Given the description of an element on the screen output the (x, y) to click on. 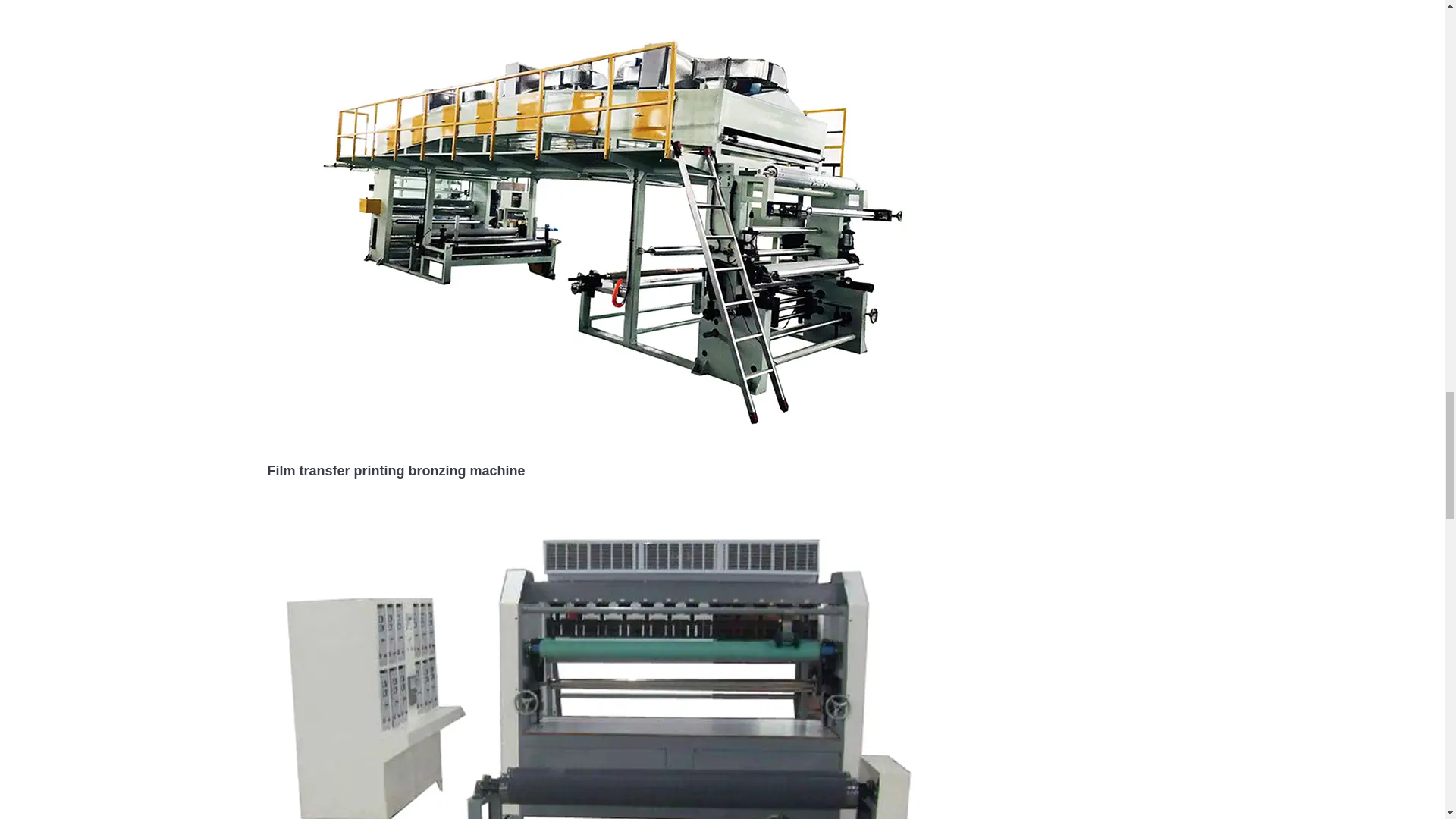
Film transfer printing bronzing machine (607, 229)
Film transfer printing bronzing machine (395, 470)
Ultrasonic Embossing Machine for non woven fabrics (607, 717)
